Given the description of an element on the screen output the (x, y) to click on. 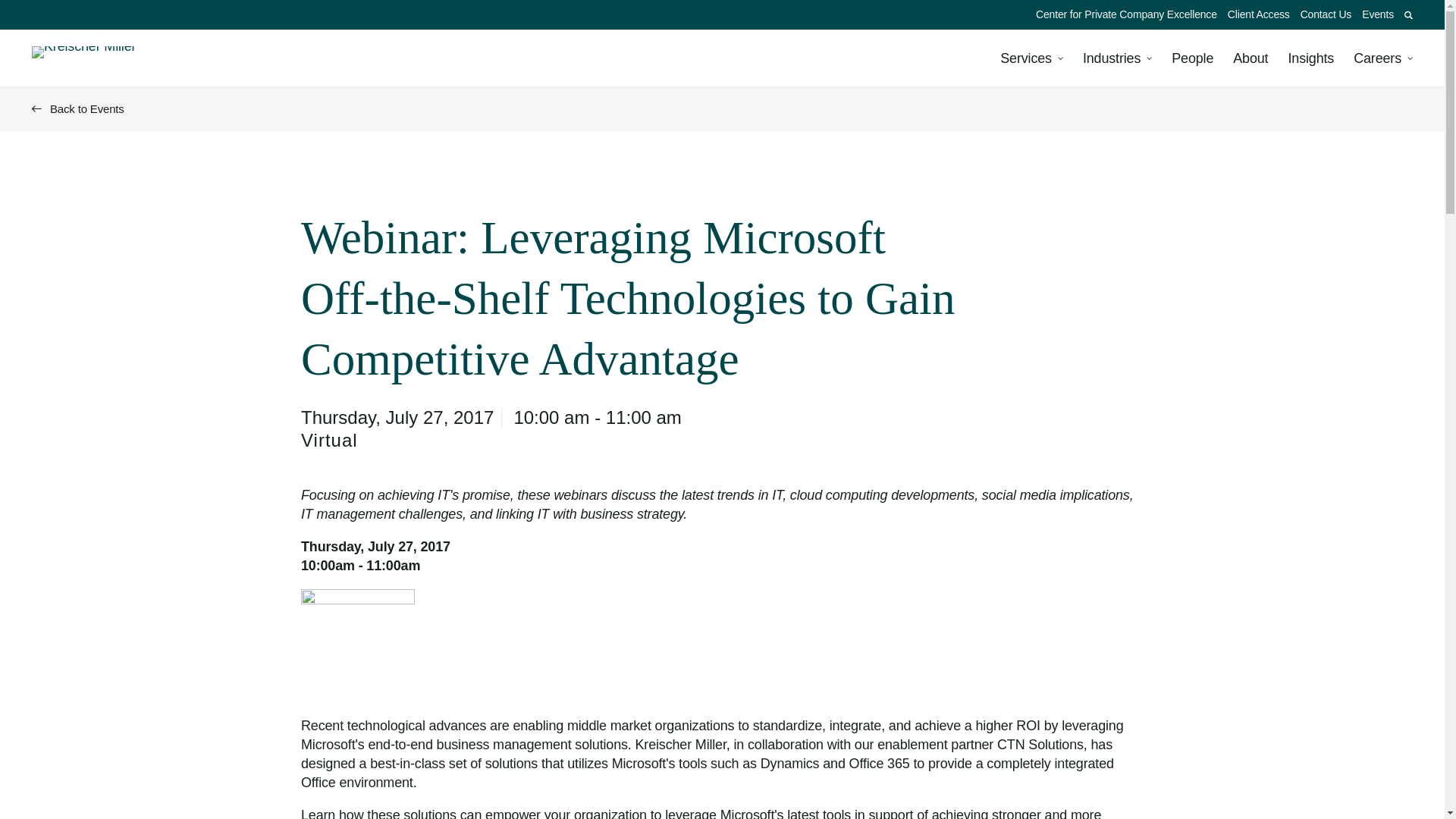
Center for Private Company Excellence (1126, 14)
Client Access (1259, 14)
Services (1031, 58)
Events (1377, 14)
Industries (1117, 58)
Contact Us (1326, 14)
